Given the description of an element on the screen output the (x, y) to click on. 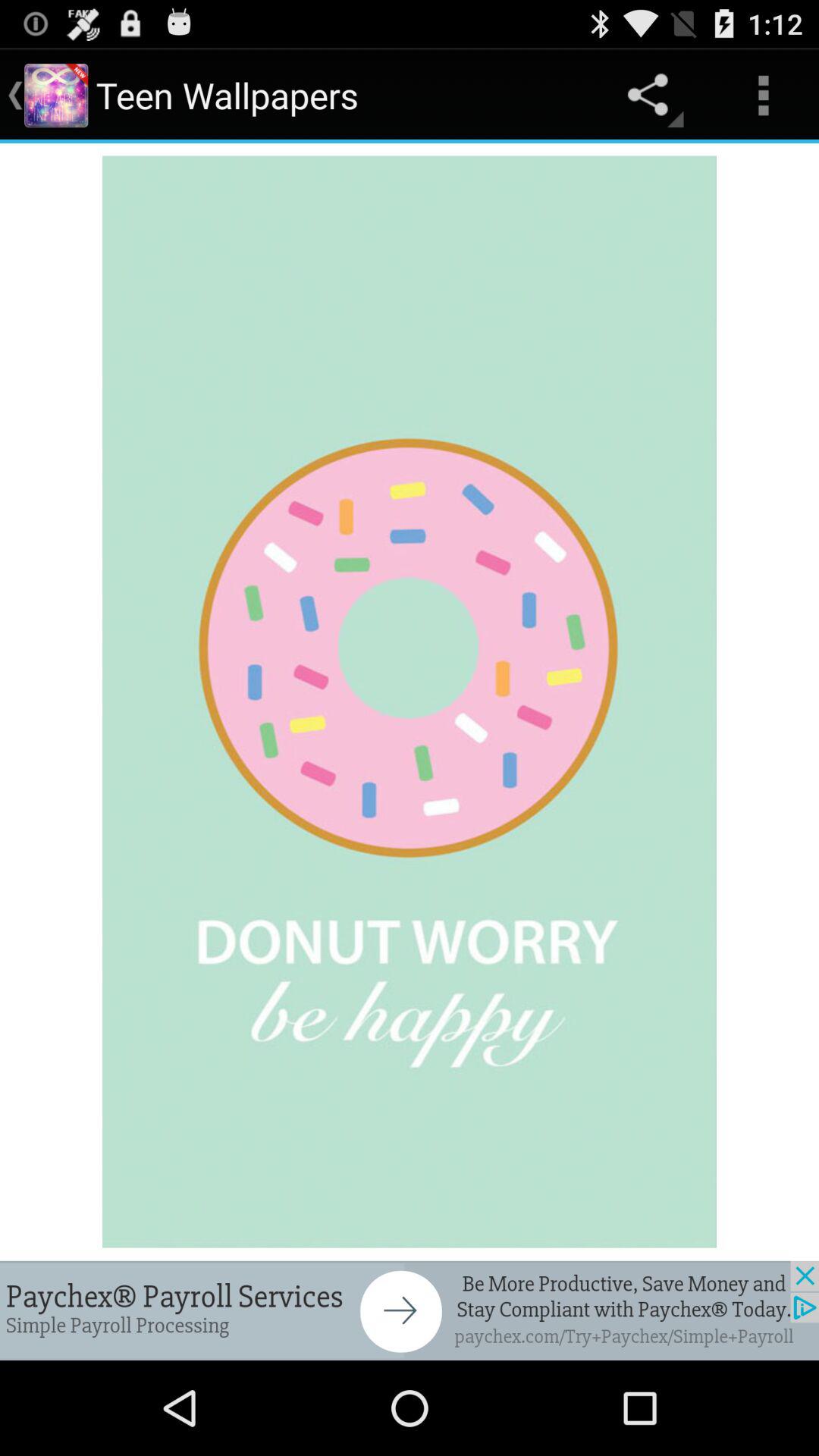
go to paychex app (409, 1310)
